Given the description of an element on the screen output the (x, y) to click on. 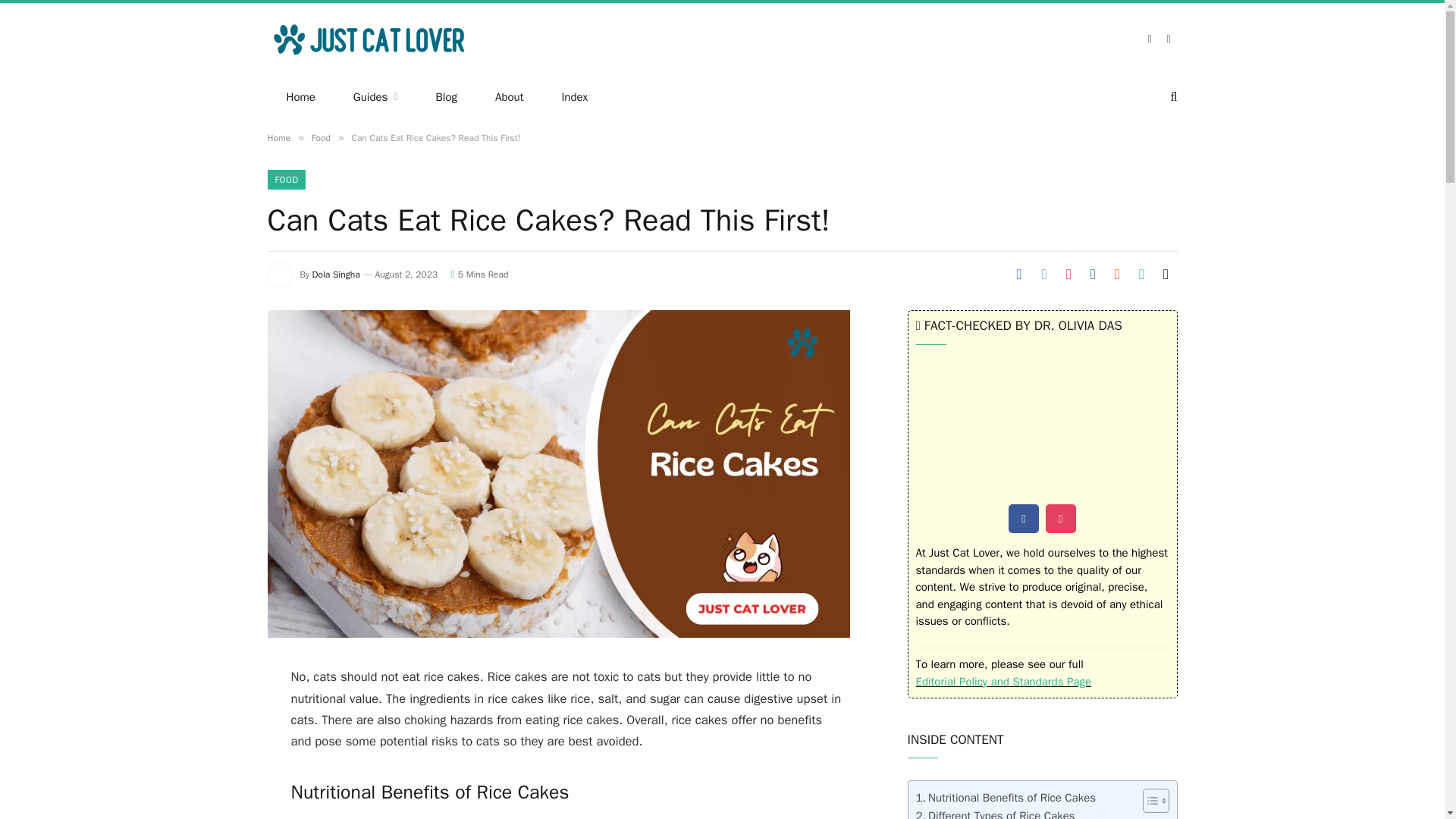
Food (320, 137)
Home (277, 137)
Just Cat Lover (369, 39)
Dola Singha (336, 274)
Home (299, 96)
About (508, 96)
Posts by Dola Singha (336, 274)
Share on LinkedIn (1092, 273)
Guides (375, 96)
Blog (446, 96)
Share on Facebook (1019, 273)
Share on Pinterest (1068, 273)
Index (574, 96)
FOOD (285, 179)
